Given the description of an element on the screen output the (x, y) to click on. 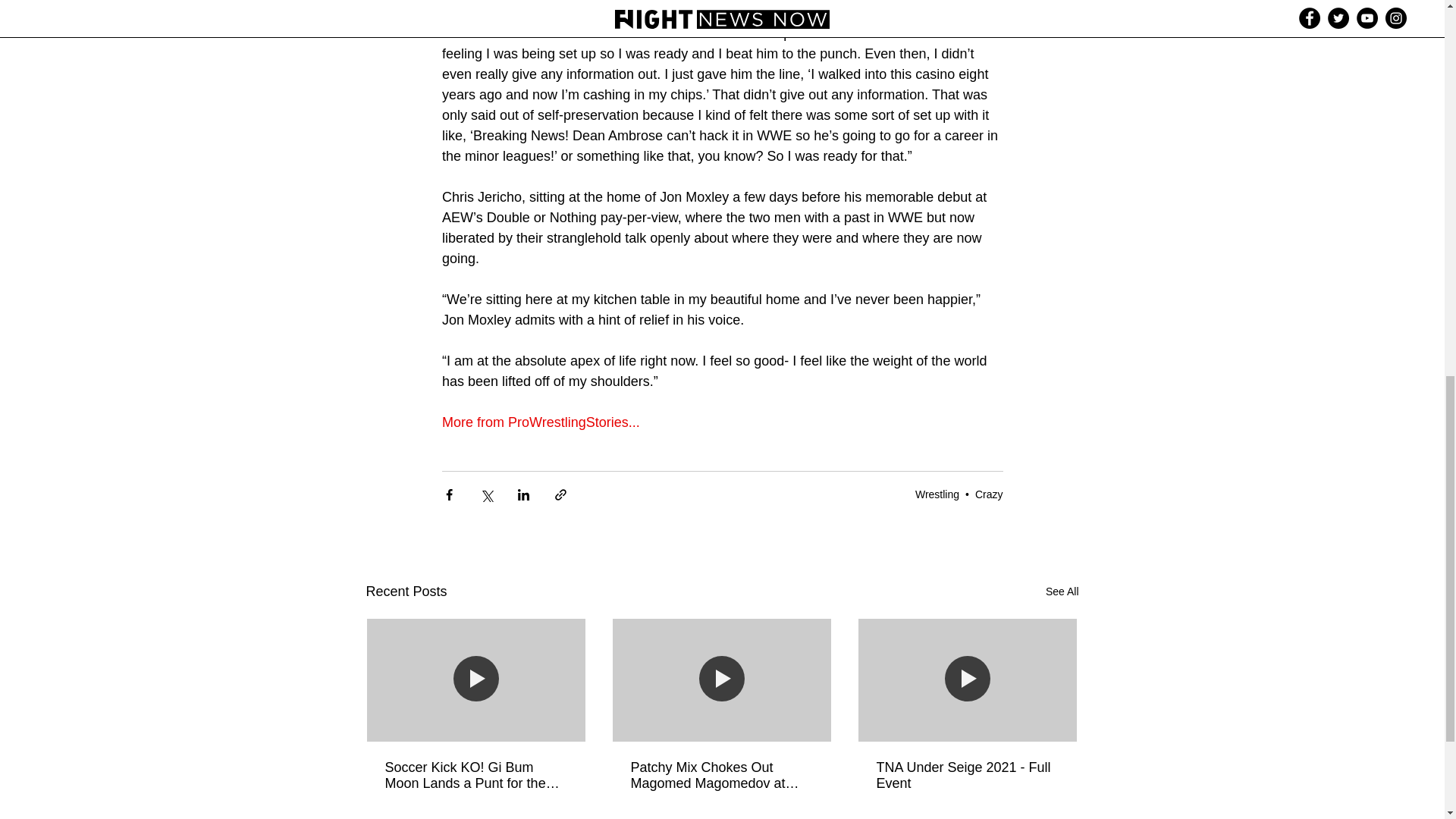
More from ProWrestlingStories... (540, 421)
TNA Under Seige 2021 - Full Event (967, 775)
See All (1061, 591)
the little interview with Michael Cole (723, 22)
Wrestling (937, 494)
Crazy (989, 494)
